Given the description of an element on the screen output the (x, y) to click on. 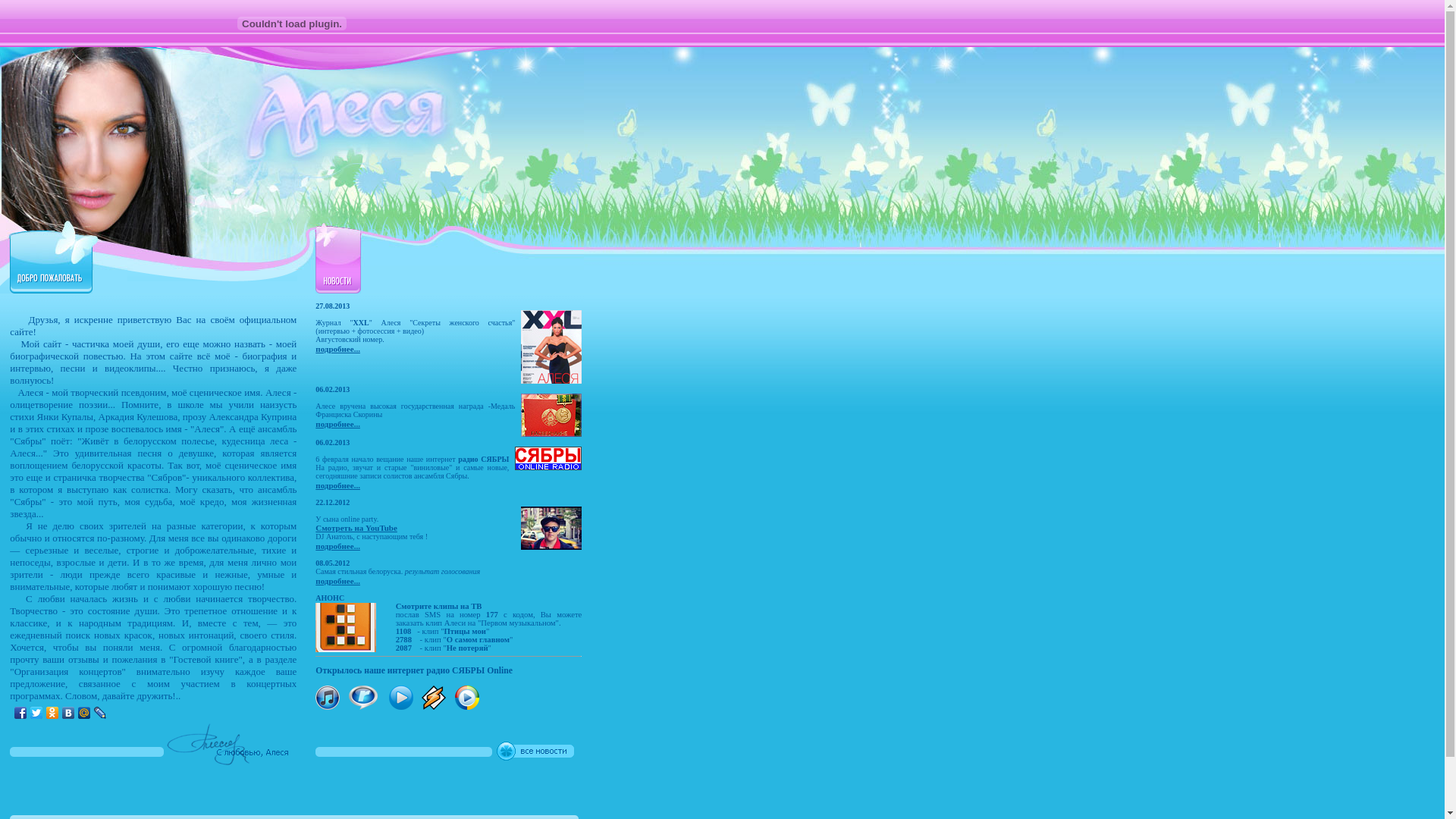
LiveJournal Element type: hover (100, 712)
Facebook Element type: hover (20, 712)
Twitter Element type: hover (36, 712)
